Given the description of an element on the screen output the (x, y) to click on. 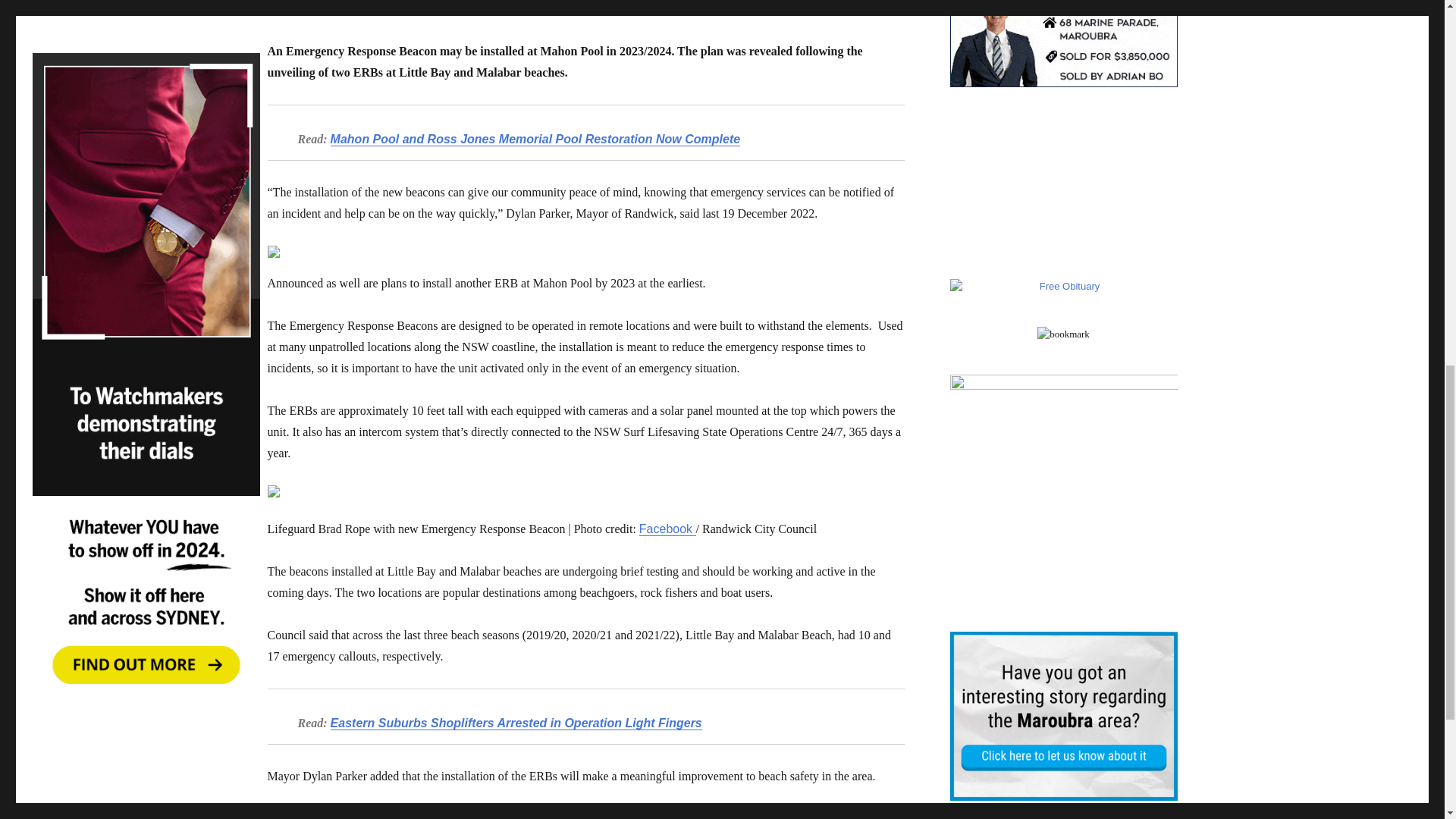
Facebook (281, 813)
Mastodon (312, 813)
Email (342, 813)
Mastodon (312, 813)
Facebook (281, 813)
Share (373, 813)
Facebook (667, 528)
Email (342, 813)
